Given the description of an element on the screen output the (x, y) to click on. 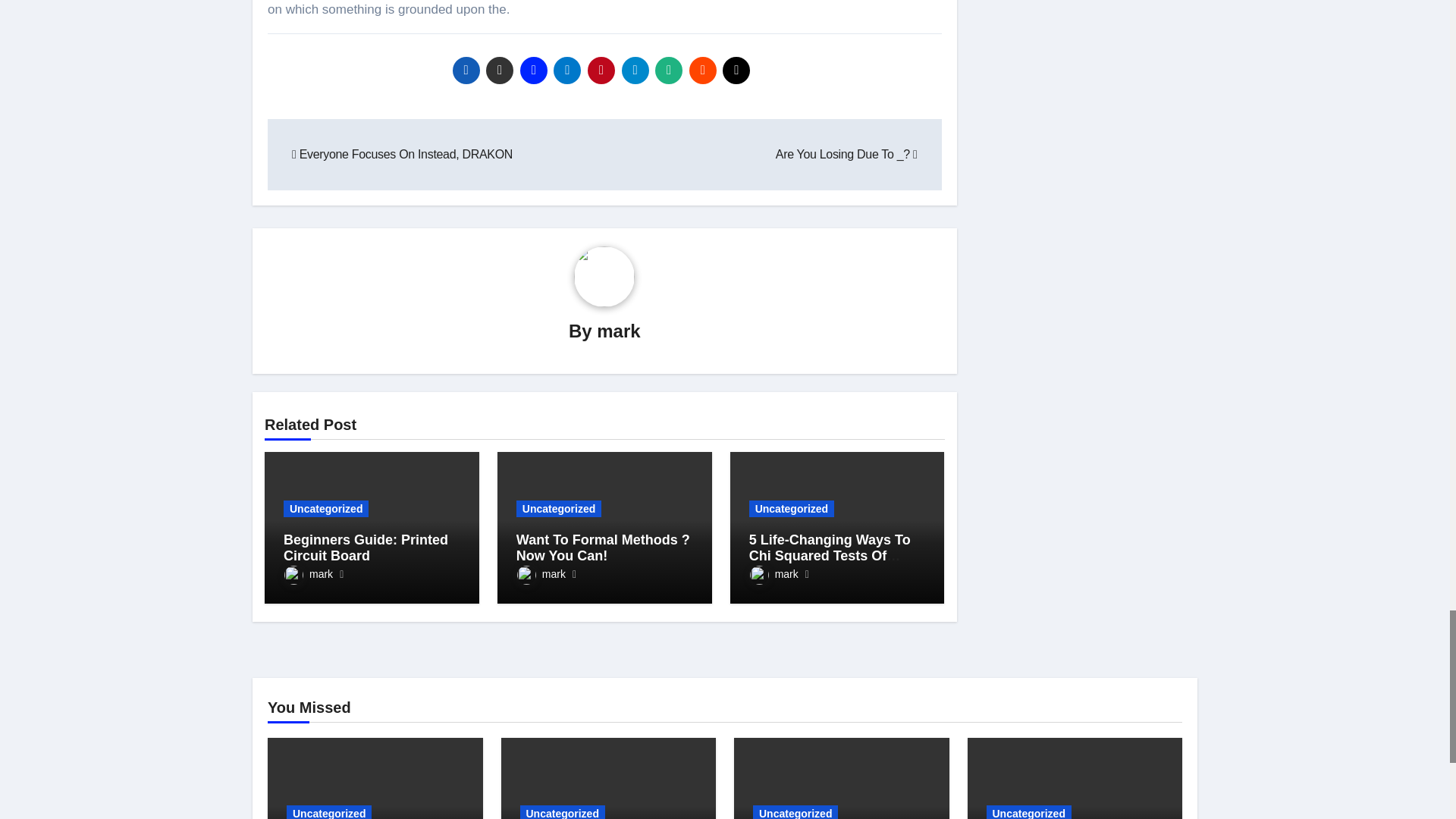
Beginners Guide: Printed Circuit Board (365, 548)
mark (618, 331)
Permalink to: Want To Formal Methods ? Now You Can! (603, 548)
Permalink to: Beginners Guide: Printed Circuit Board (365, 548)
Uncategorized (325, 508)
Everyone Focuses On Instead, DRAKON (402, 154)
mark (308, 573)
